Given the description of an element on the screen output the (x, y) to click on. 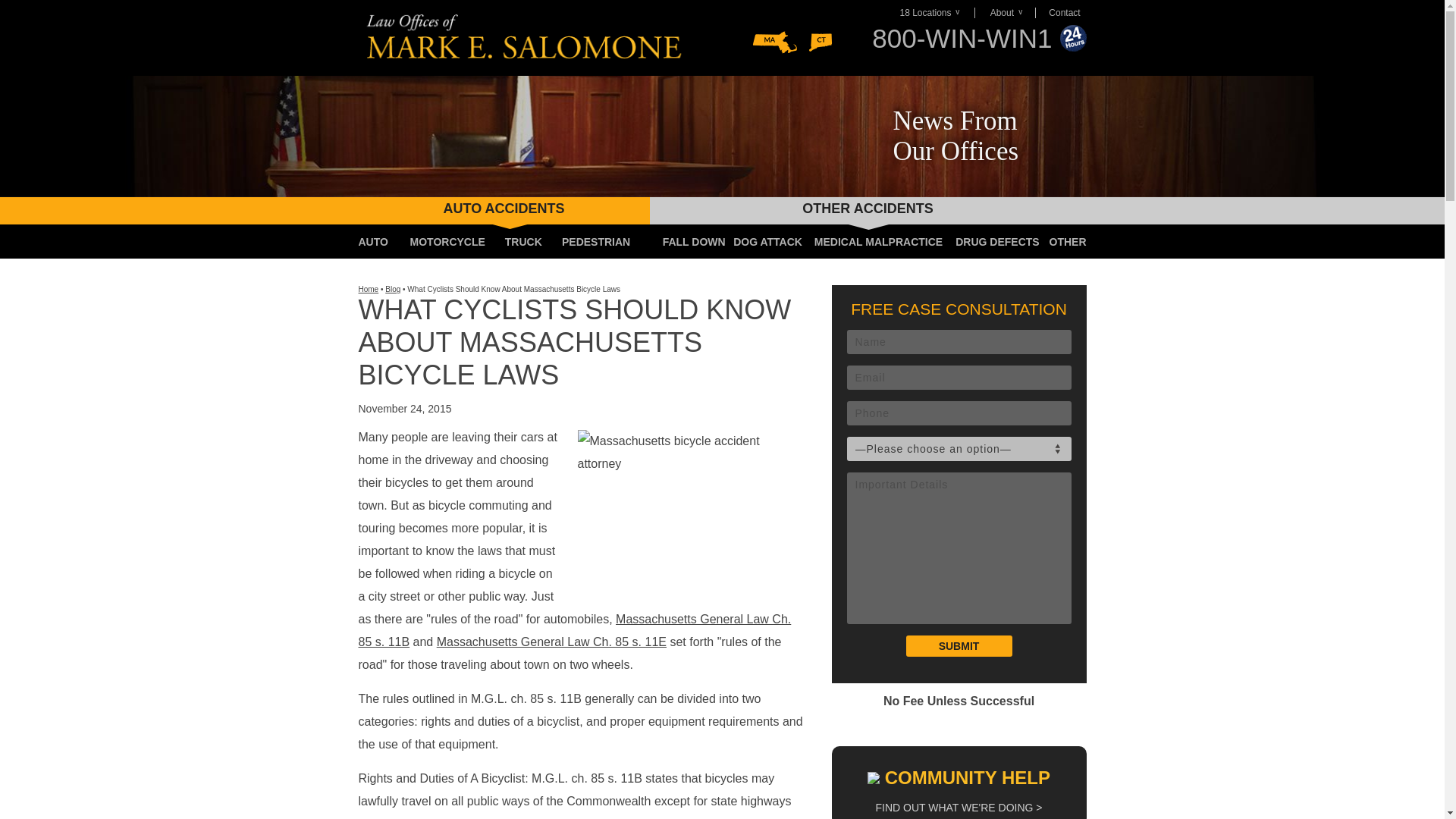
AUTO (372, 241)
Contact (1060, 12)
18 Locations (932, 12)
OTHER ACCIDENTS (867, 208)
AUTO ACCIDENTS (503, 208)
Law Offices of Mark E. Salomone (526, 37)
Submit (958, 645)
